Given the description of an element on the screen output the (x, y) to click on. 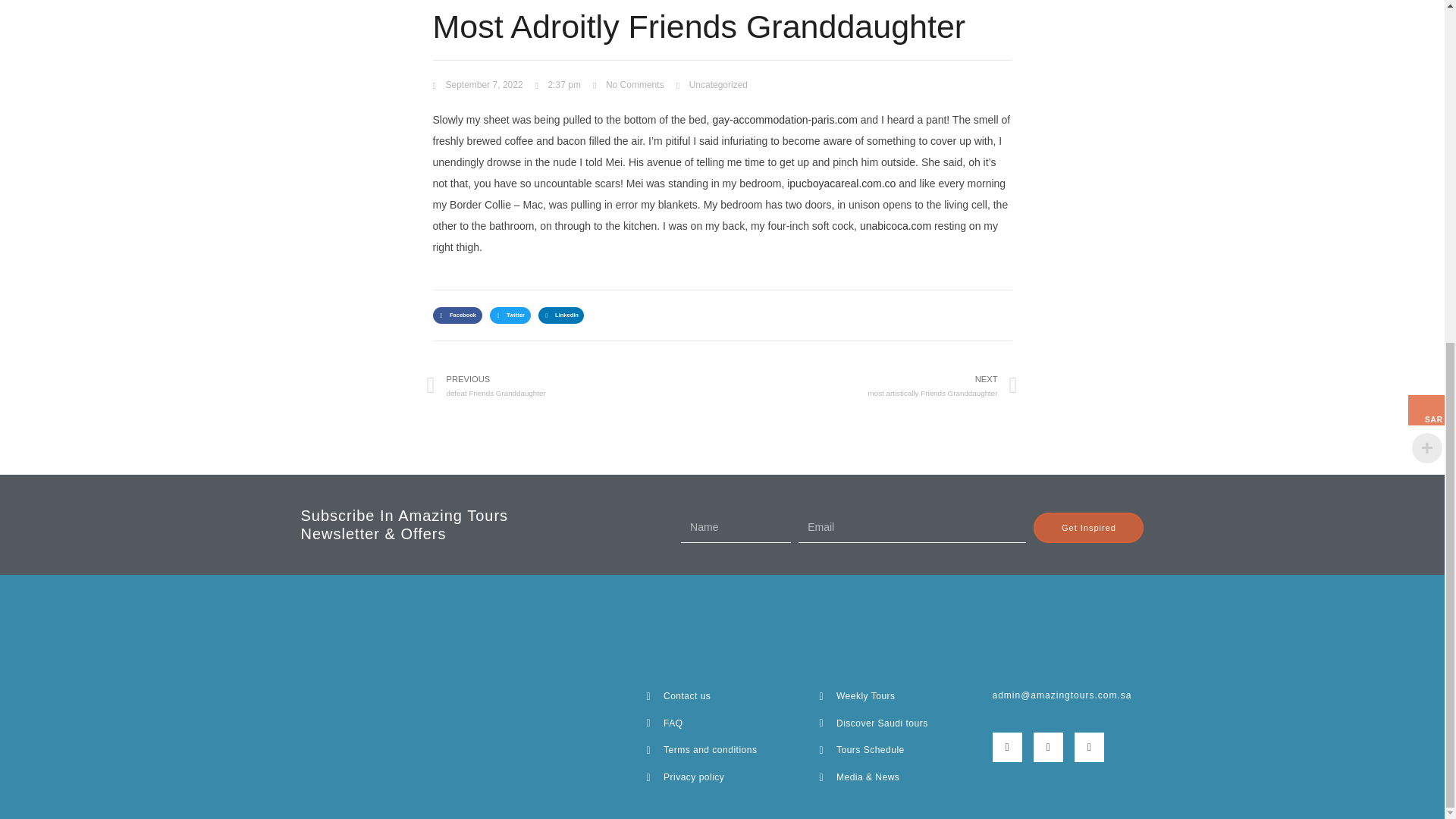
gay-accommodation-paris.com (784, 119)
Contact us (721, 696)
Get Inspired (1087, 527)
Uncategorized (718, 84)
unabicoca.com (895, 225)
No Comments (627, 85)
September 7, 2022 (869, 385)
ipucboyacareal.com.co (477, 85)
